Given the description of an element on the screen output the (x, y) to click on. 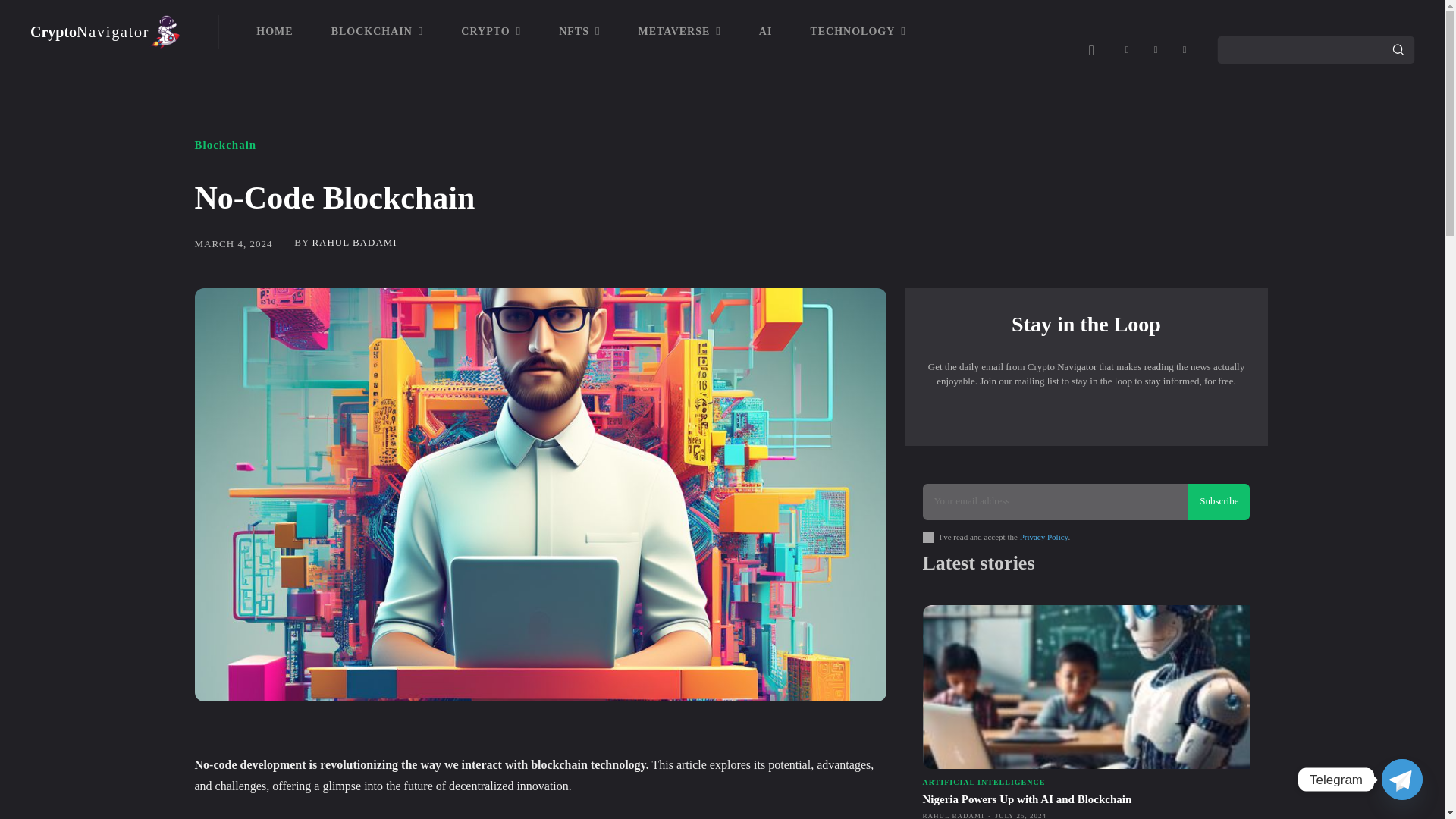
BLOCKCHAIN (104, 32)
Crypto Navigator Rocket Man (377, 31)
Crypto Navigator Rocket Man (104, 32)
